Given the description of an element on the screen output the (x, y) to click on. 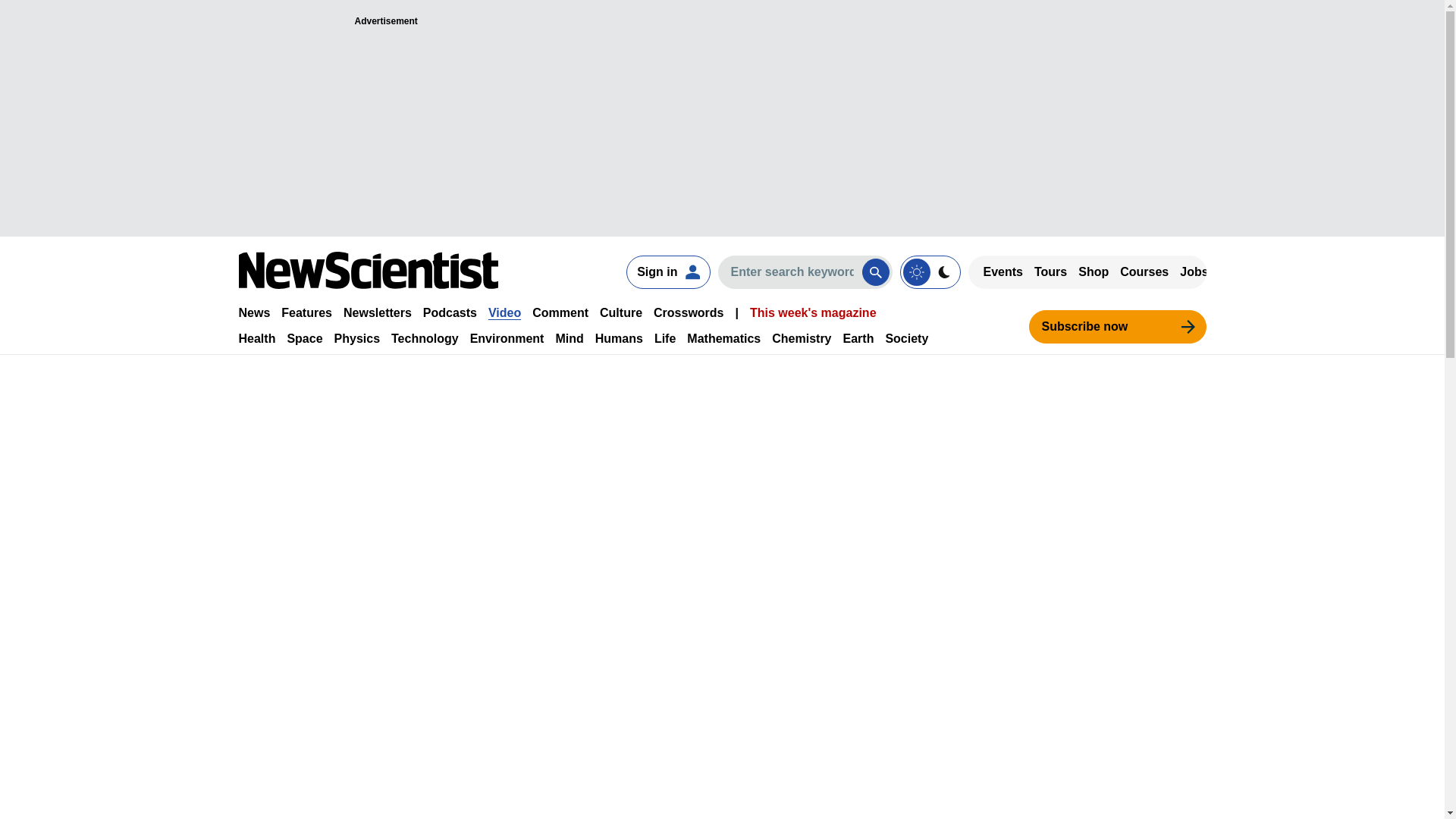
Space (303, 338)
Jobs (1193, 272)
Tours (1050, 272)
Culture (620, 313)
This week's magazine (812, 313)
Environment (507, 338)
Sign In page link (668, 272)
Mathematics (723, 338)
Technology (424, 338)
Podcasts (450, 313)
